Given the description of an element on the screen output the (x, y) to click on. 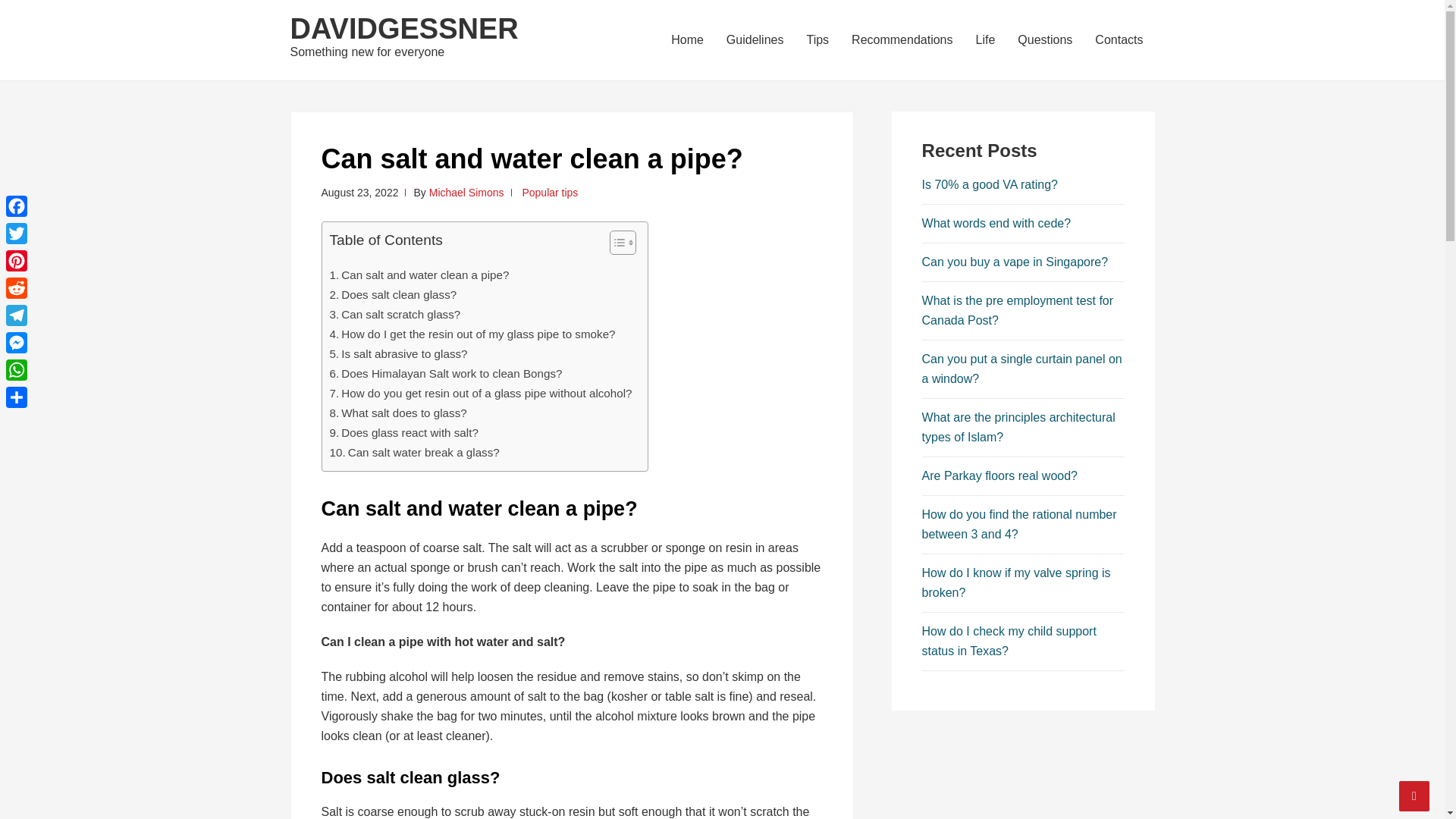
Popular tips (549, 192)
DAVIDGESSNER (403, 29)
Can salt scratch glass? (394, 314)
What salt does to glass? (397, 413)
Can salt water break a glass? (414, 452)
What is the pre employment test for Canada Post? (1017, 310)
Michael Simons (466, 192)
Can salt and water clean a pipe? (418, 275)
Contacts (1118, 39)
Life (985, 39)
Tips (817, 39)
How do I get the resin out of my glass pipe to smoke? (471, 334)
How do I get the resin out of my glass pipe to smoke? (471, 334)
Are Parkay floors real wood? (999, 475)
Can you buy a vape in Singapore? (1014, 261)
